Given the description of an element on the screen output the (x, y) to click on. 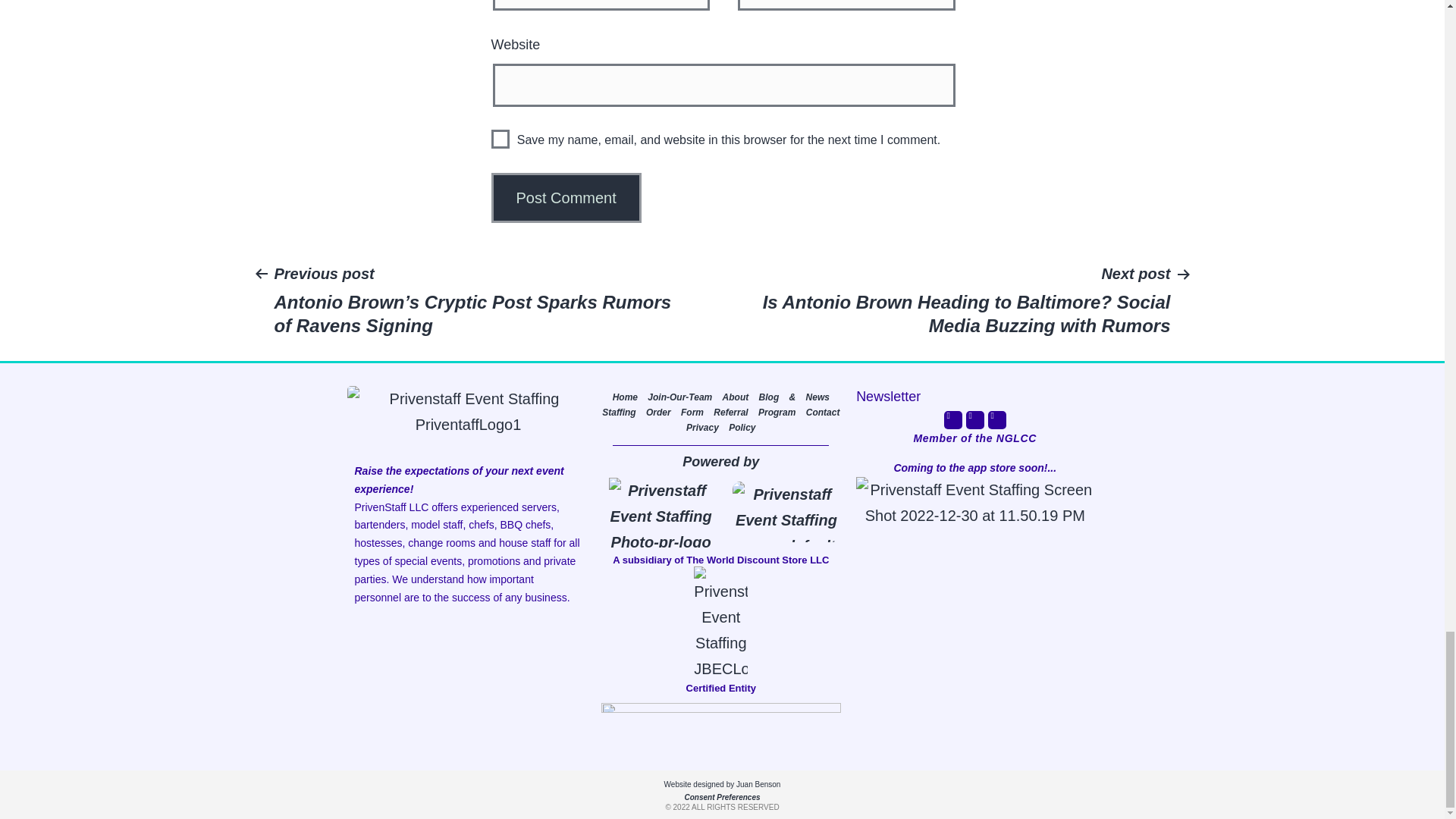
Join-Our-Team (679, 397)
Staffing Order Form (652, 412)
Consent Preferences (722, 797)
Post Comment (567, 197)
yes (500, 138)
Privacy Policy (720, 427)
Referral Program (753, 412)
Contact (823, 412)
Post Comment (567, 197)
About (735, 397)
